Given the description of an element on the screen output the (x, y) to click on. 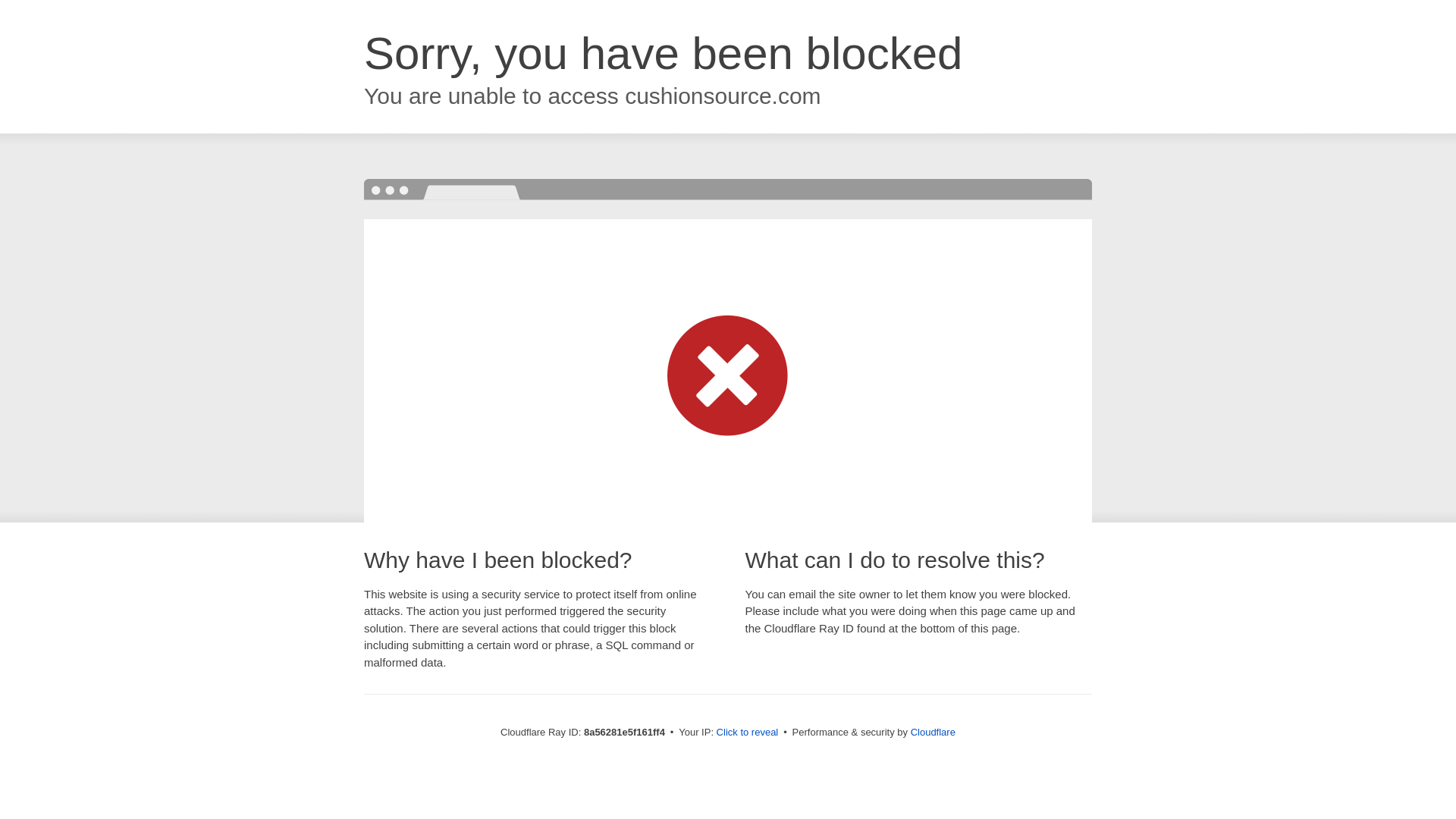
Cloudflare (933, 731)
Click to reveal (747, 732)
